Given the description of an element on the screen output the (x, y) to click on. 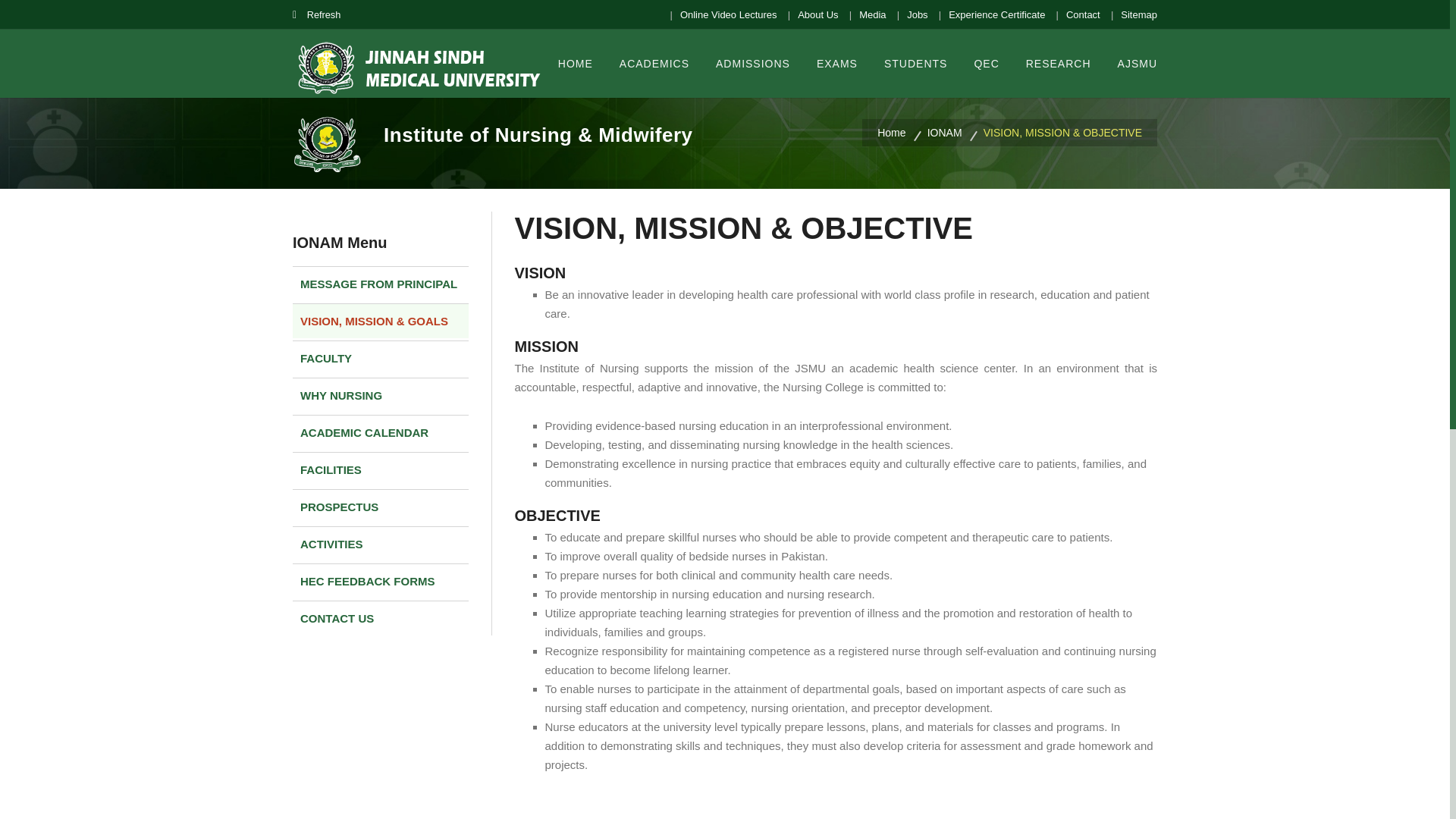
STUDENTS (915, 62)
QEC (986, 62)
RESEARCH (1058, 62)
ADMISSIONS (753, 62)
Experience Certificate (992, 15)
Refresh the Page (316, 14)
Media (867, 15)
Contact (1078, 15)
AJSMU (1137, 62)
Jobs (912, 15)
Online Video Lectures (722, 15)
ACADEMICS (654, 62)
Sitemap (1133, 15)
EXAMS (836, 62)
Home (900, 132)
